Given the description of an element on the screen output the (x, y) to click on. 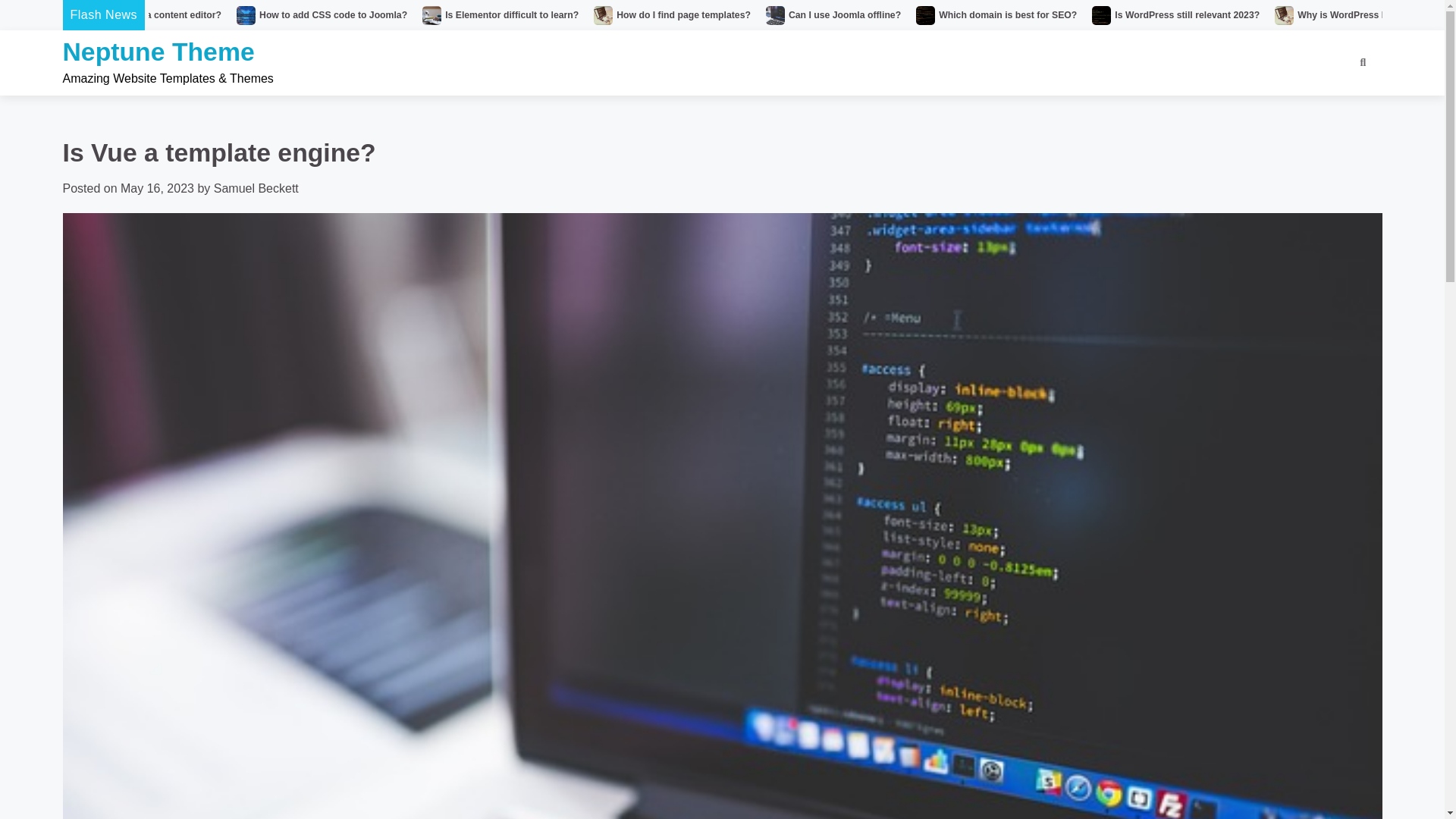
How do I find page templates? (683, 15)
Search (1362, 62)
Which domain is best for SEO? (1008, 15)
May 16, 2023 (156, 187)
Is WordPress still relevant 2023? (1187, 15)
Samuel Beckett (256, 187)
Can I use Joomla offline? (845, 15)
How to add CSS code to Joomla? (333, 15)
Which is the best Joomla content editor? (130, 15)
Search (1334, 101)
Is Elementor difficult to learn? (511, 15)
Neptune Theme (157, 51)
